Given the description of an element on the screen output the (x, y) to click on. 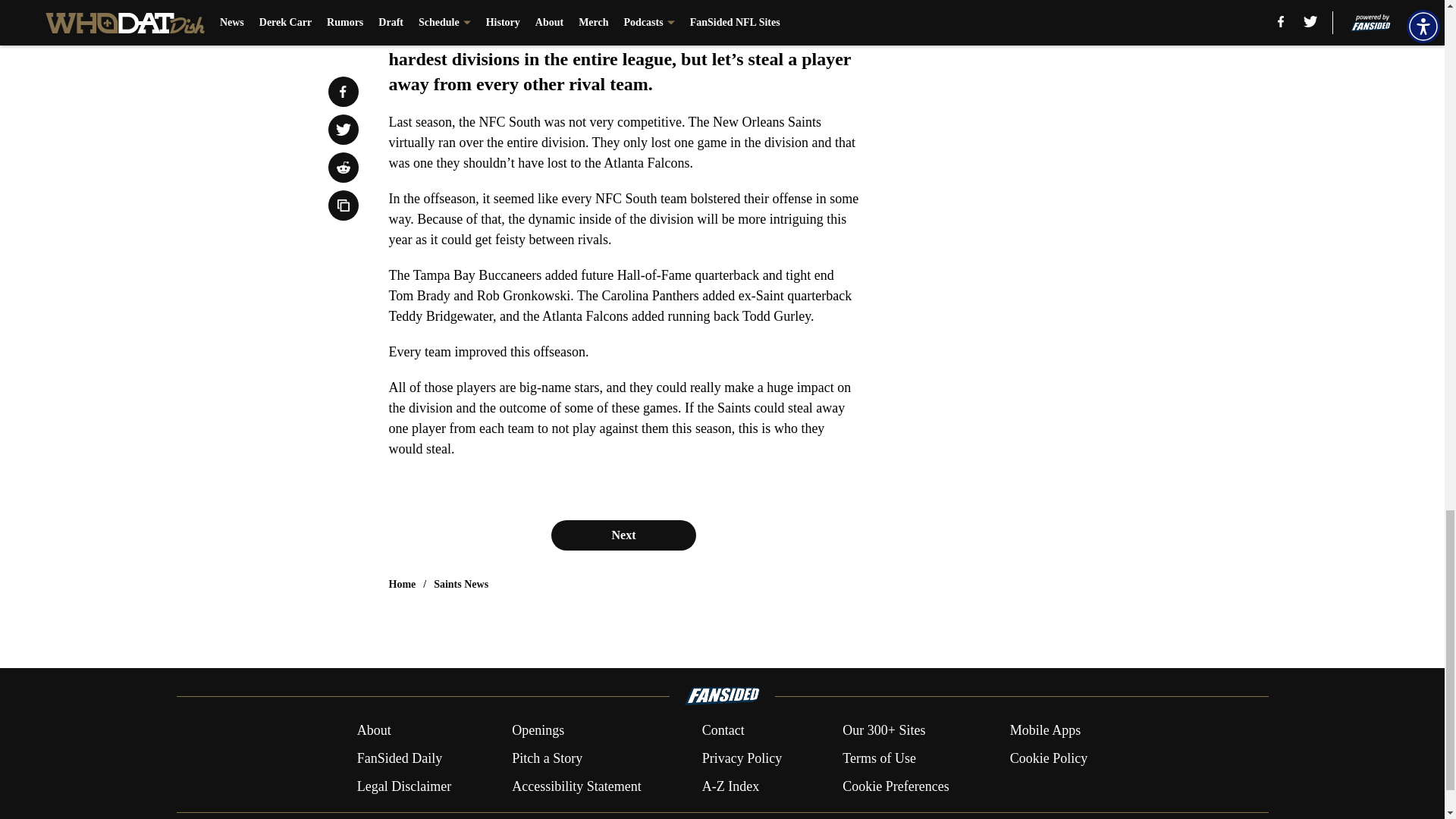
Saints News (460, 584)
Contact (722, 730)
About (373, 730)
FanSided Daily (399, 758)
Openings (538, 730)
Mobile Apps (1045, 730)
Next (622, 535)
Home (401, 584)
